Given the description of an element on the screen output the (x, y) to click on. 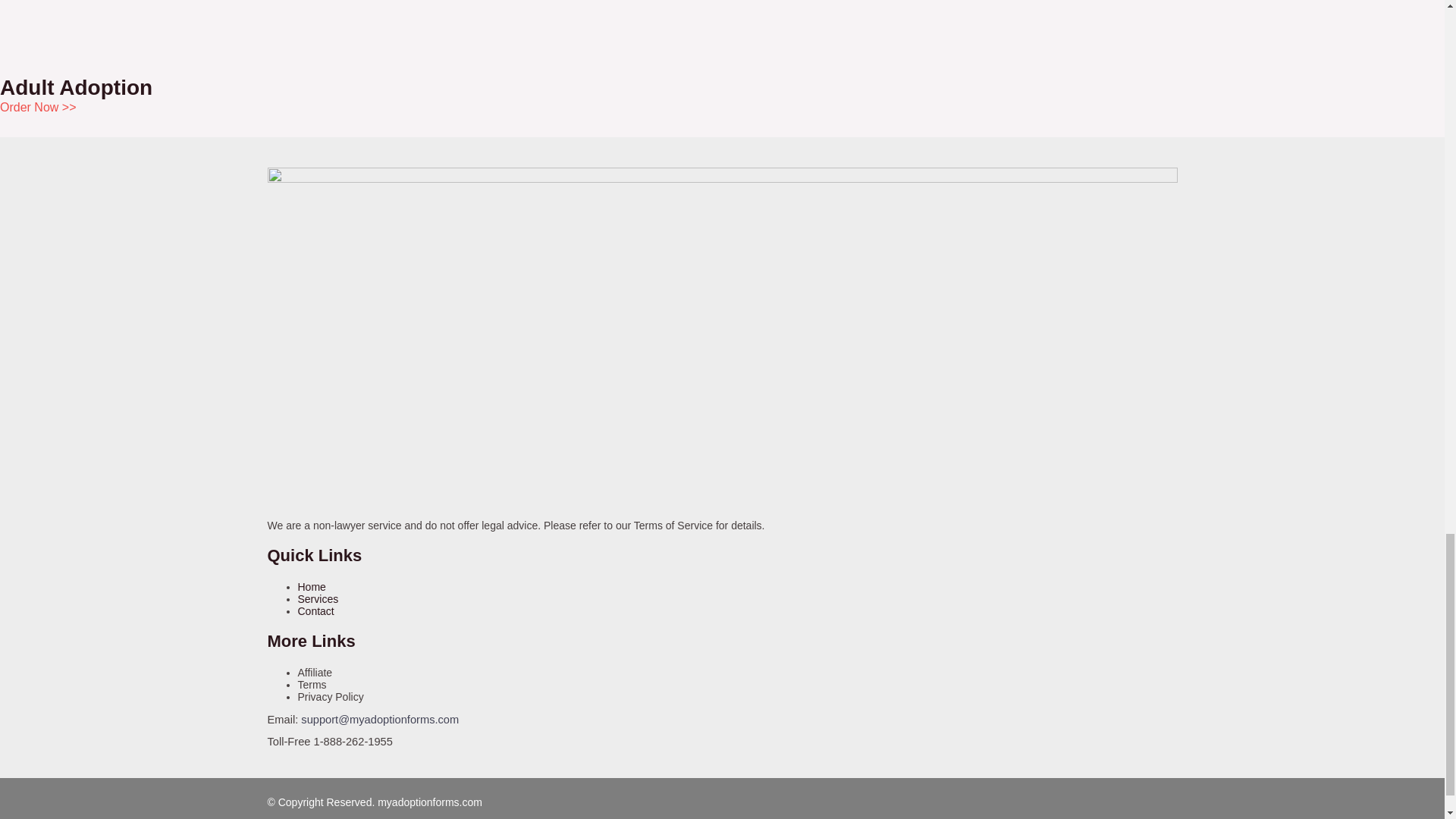
Contact (315, 611)
Affiliate (314, 672)
Privacy Policy (329, 696)
Services (317, 598)
Terms (311, 684)
Home (310, 586)
